Given the description of an element on the screen output the (x, y) to click on. 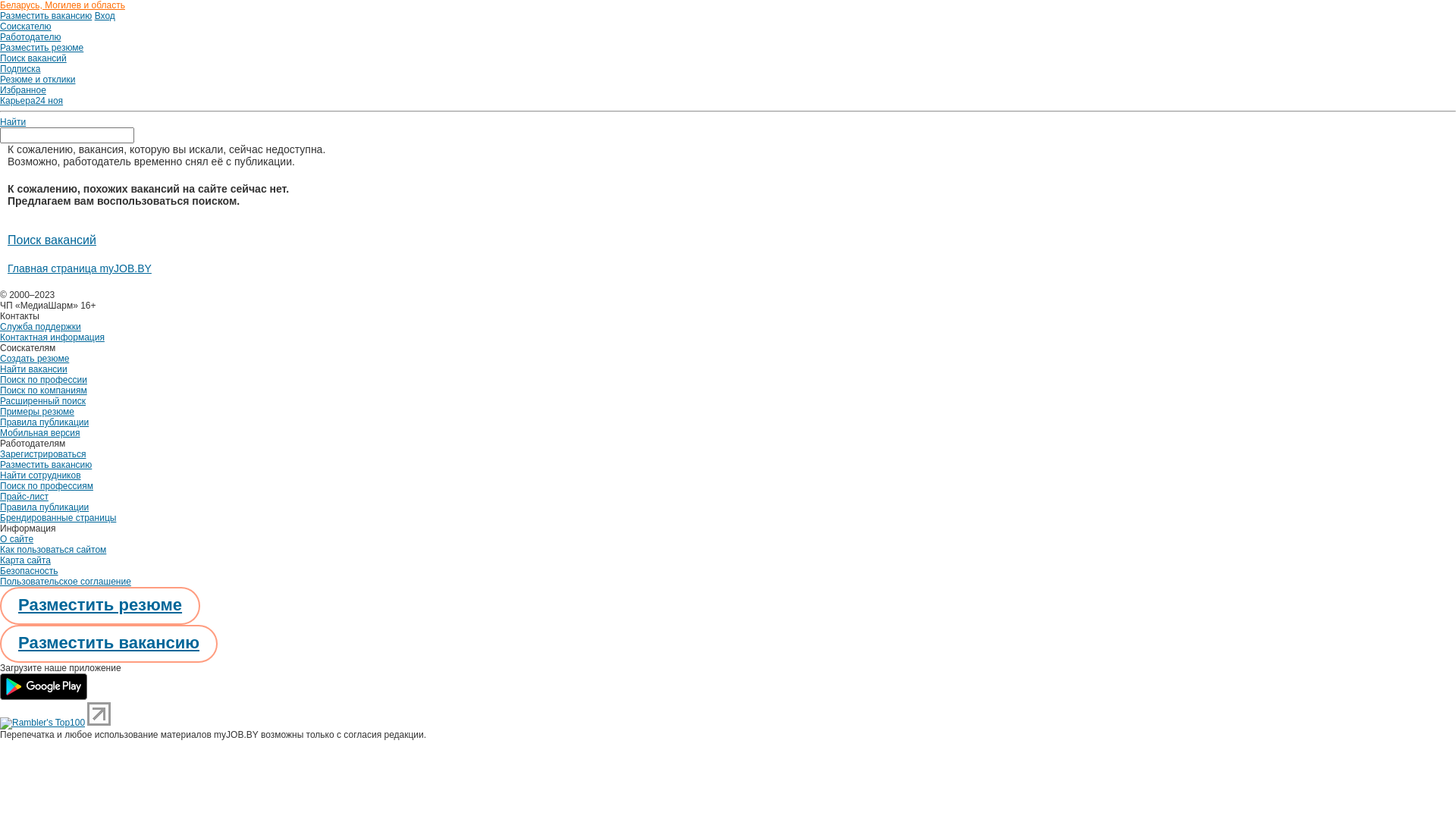
LiveInternet Element type: hover (98, 713)
